Given the description of an element on the screen output the (x, y) to click on. 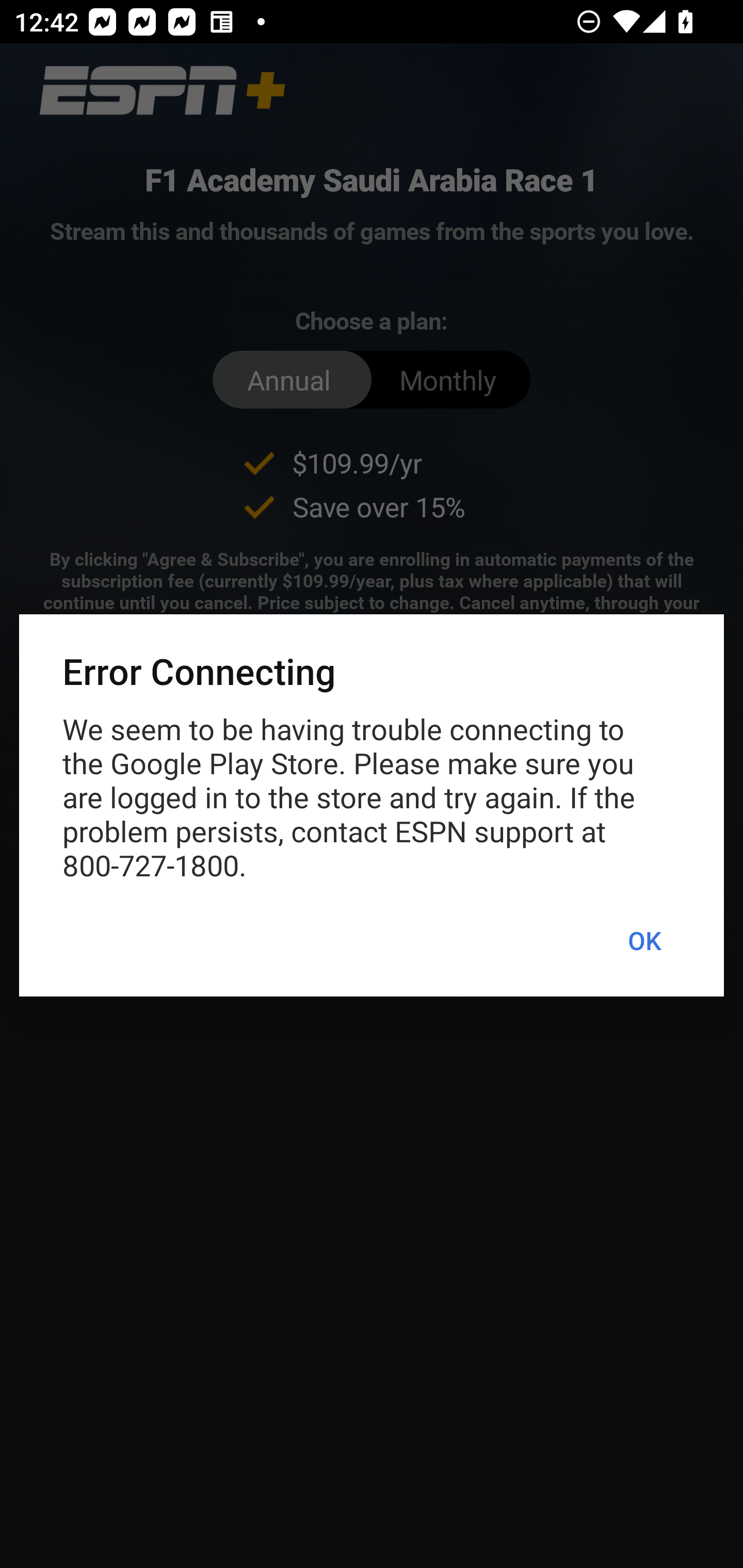
OK (644, 940)
